Given the description of an element on the screen output the (x, y) to click on. 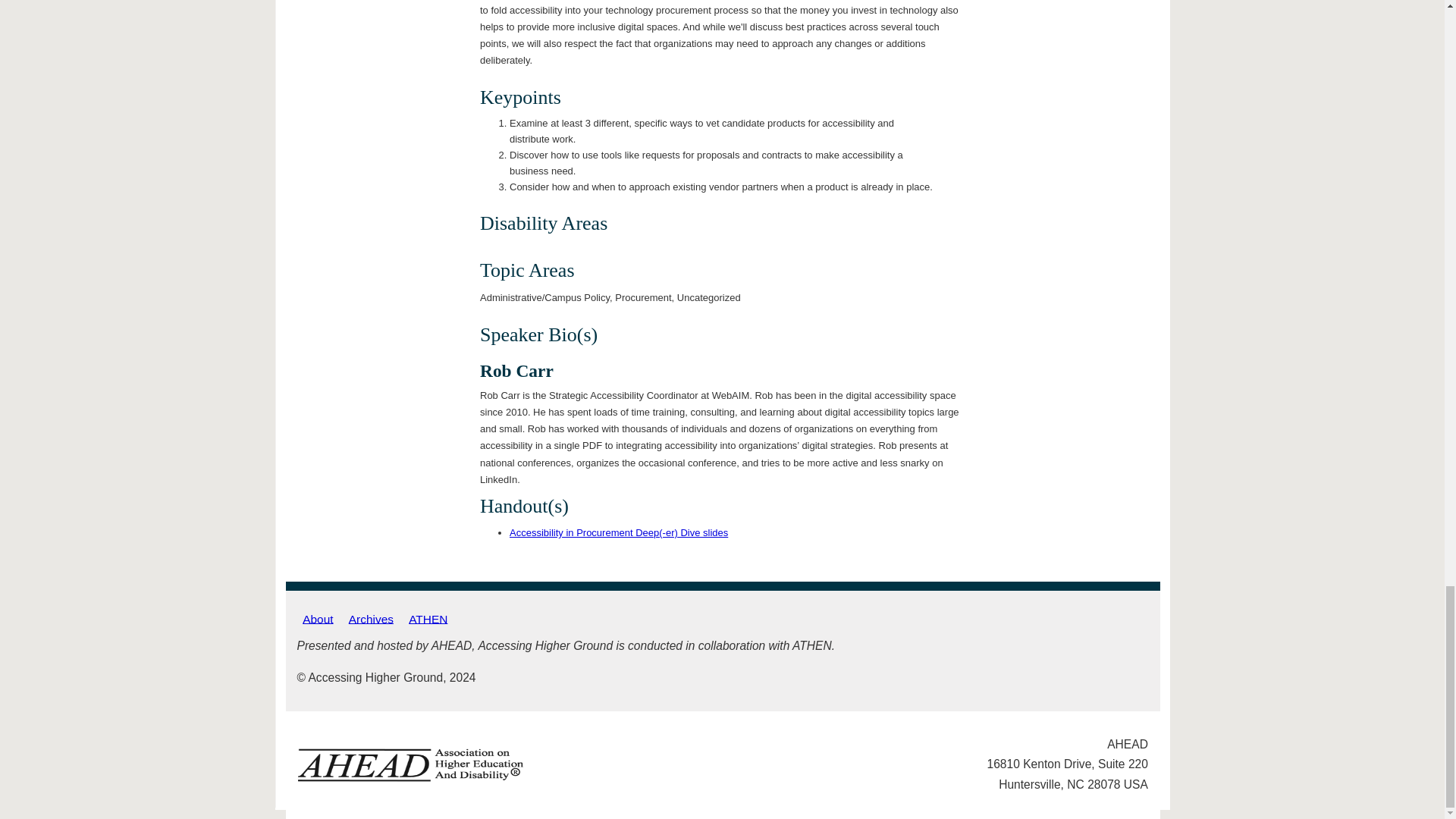
Archives (370, 618)
About (318, 618)
ATHEN (427, 618)
